Given the description of an element on the screen output the (x, y) to click on. 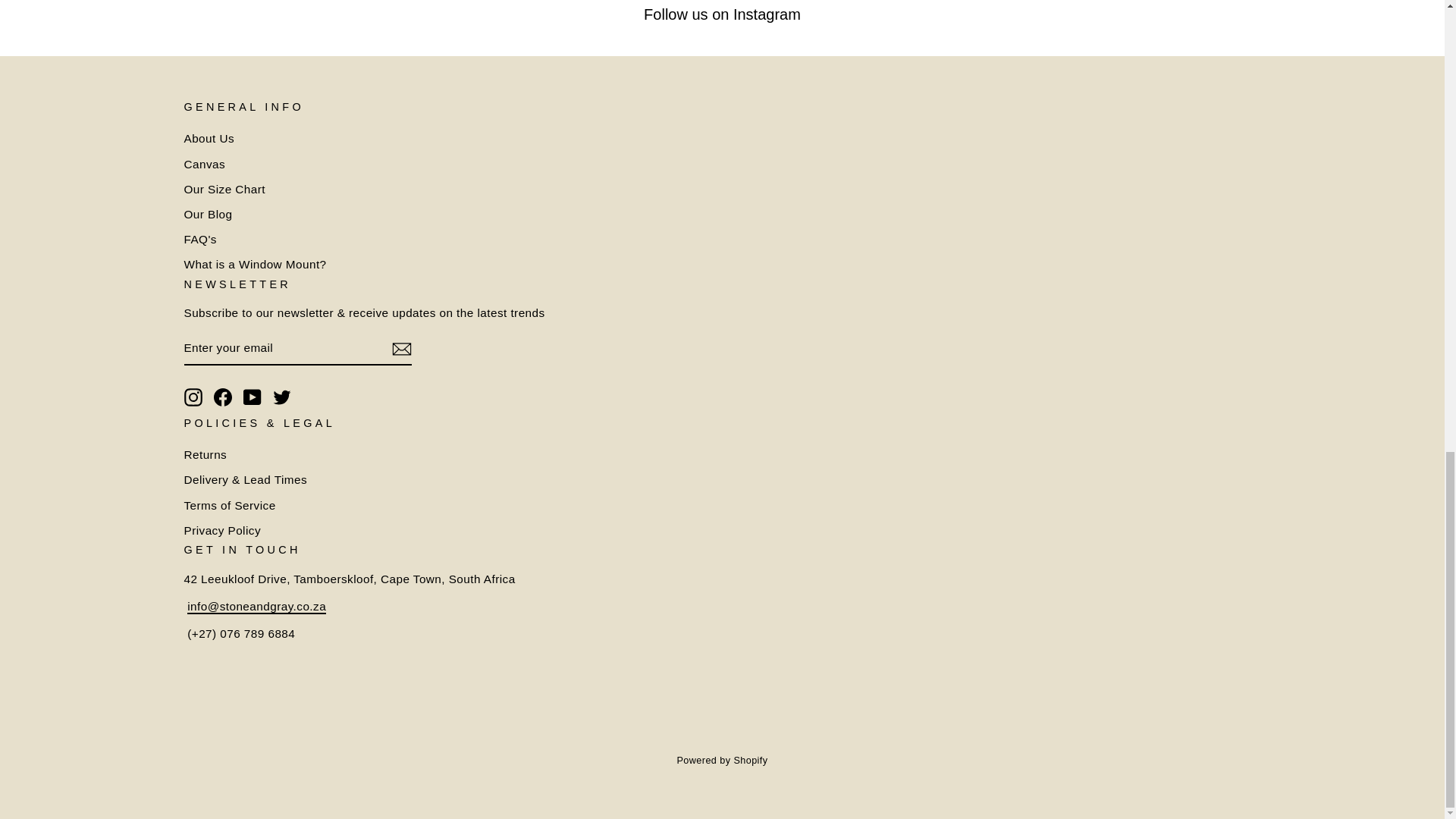
Stone and Gray on Facebook (222, 397)
Stone and Gray on Instagram (192, 397)
Stone and Gray on YouTube (251, 397)
icon-email (400, 349)
Stone and Gray on Twitter (282, 397)
instagram (192, 397)
twitter (282, 397)
